Given the description of an element on the screen output the (x, y) to click on. 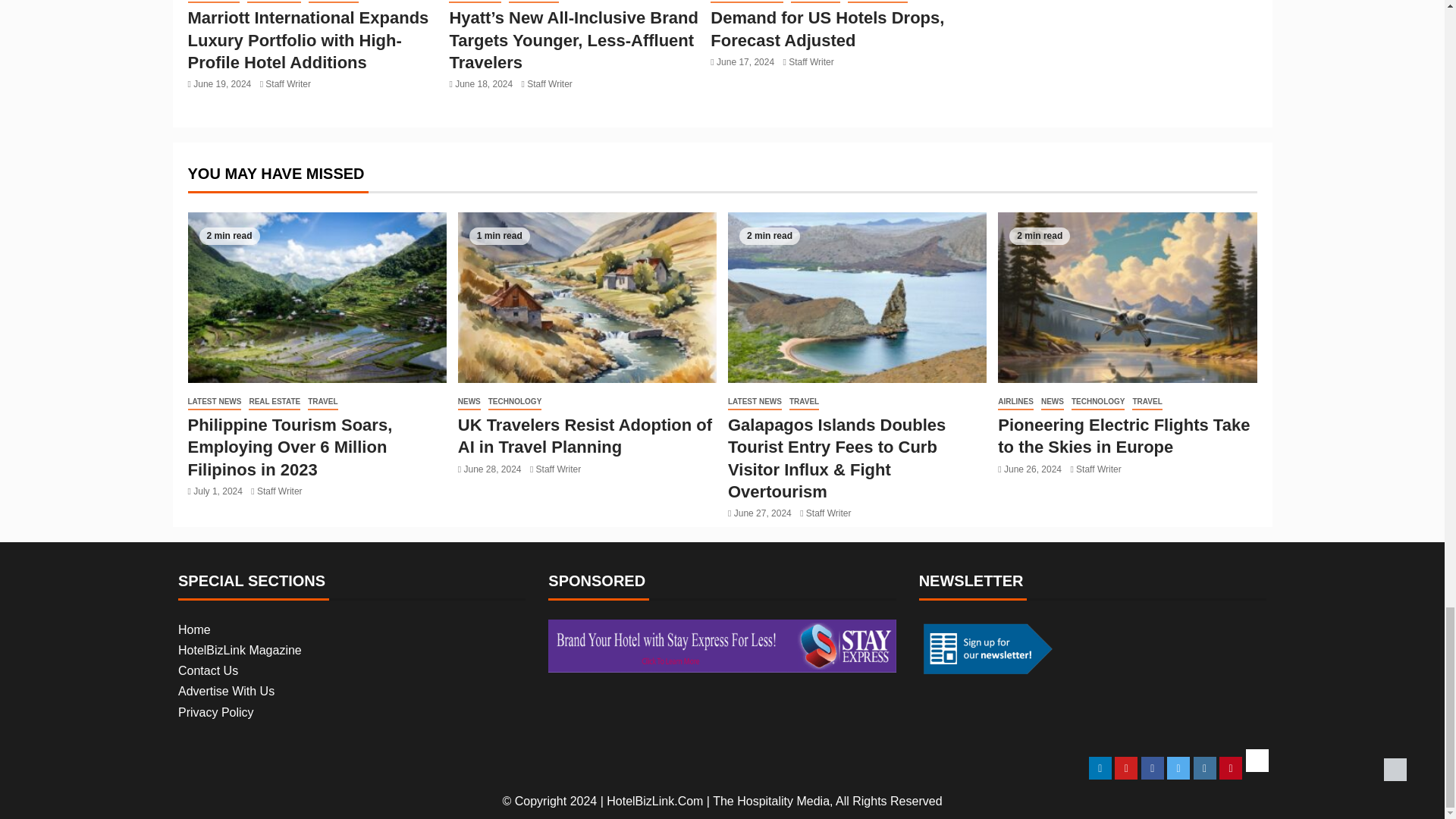
Newsletter (985, 647)
Sponsored (721, 646)
